Given the description of an element on the screen output the (x, y) to click on. 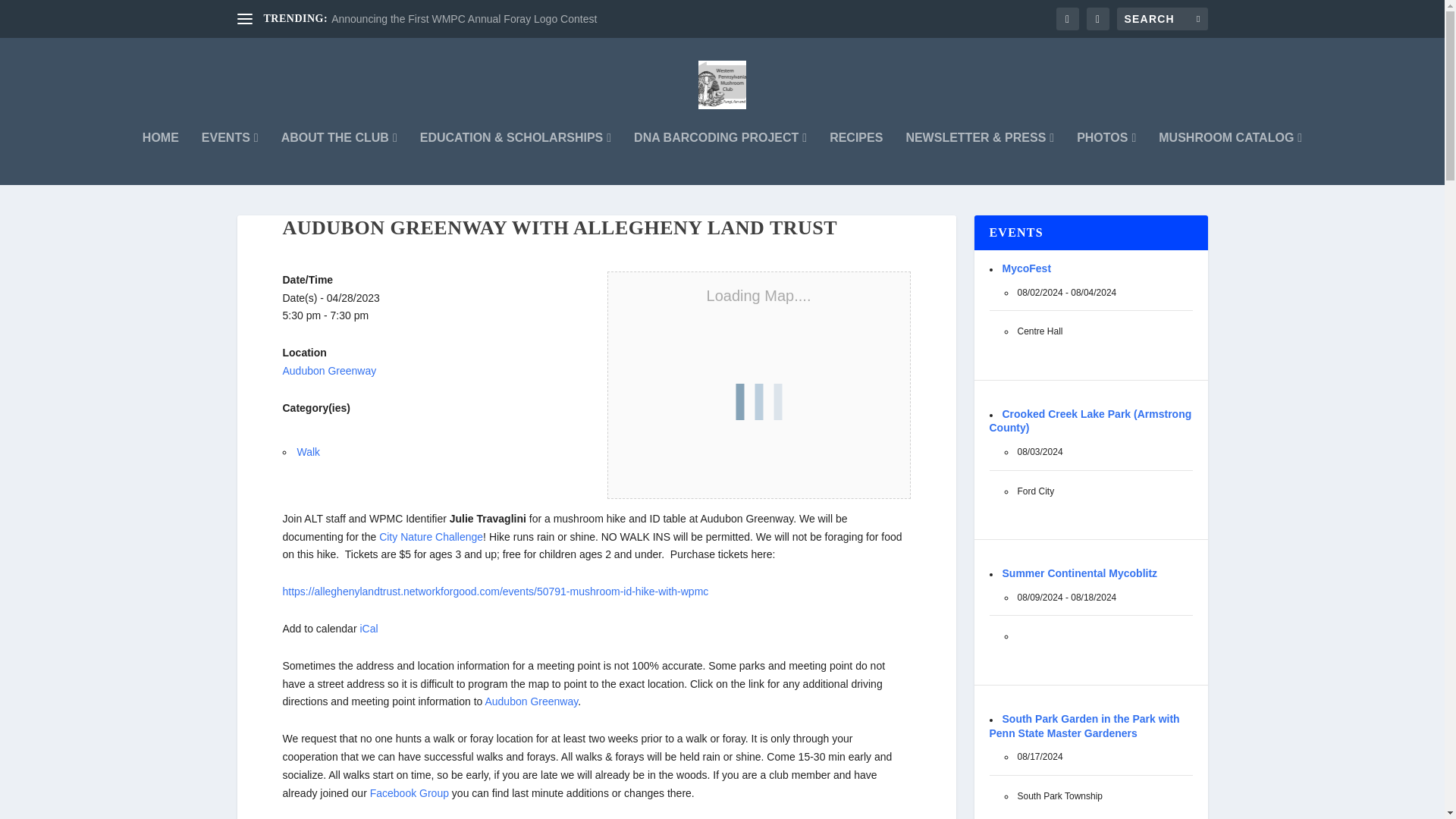
DNA BARCODING PROJECT (719, 158)
EVENTS (230, 158)
ABOUT THE CLUB (339, 158)
Search for: (1161, 18)
Announcing the First WMPC Annual Foray Logo Contest (463, 19)
